Given the description of an element on the screen output the (x, y) to click on. 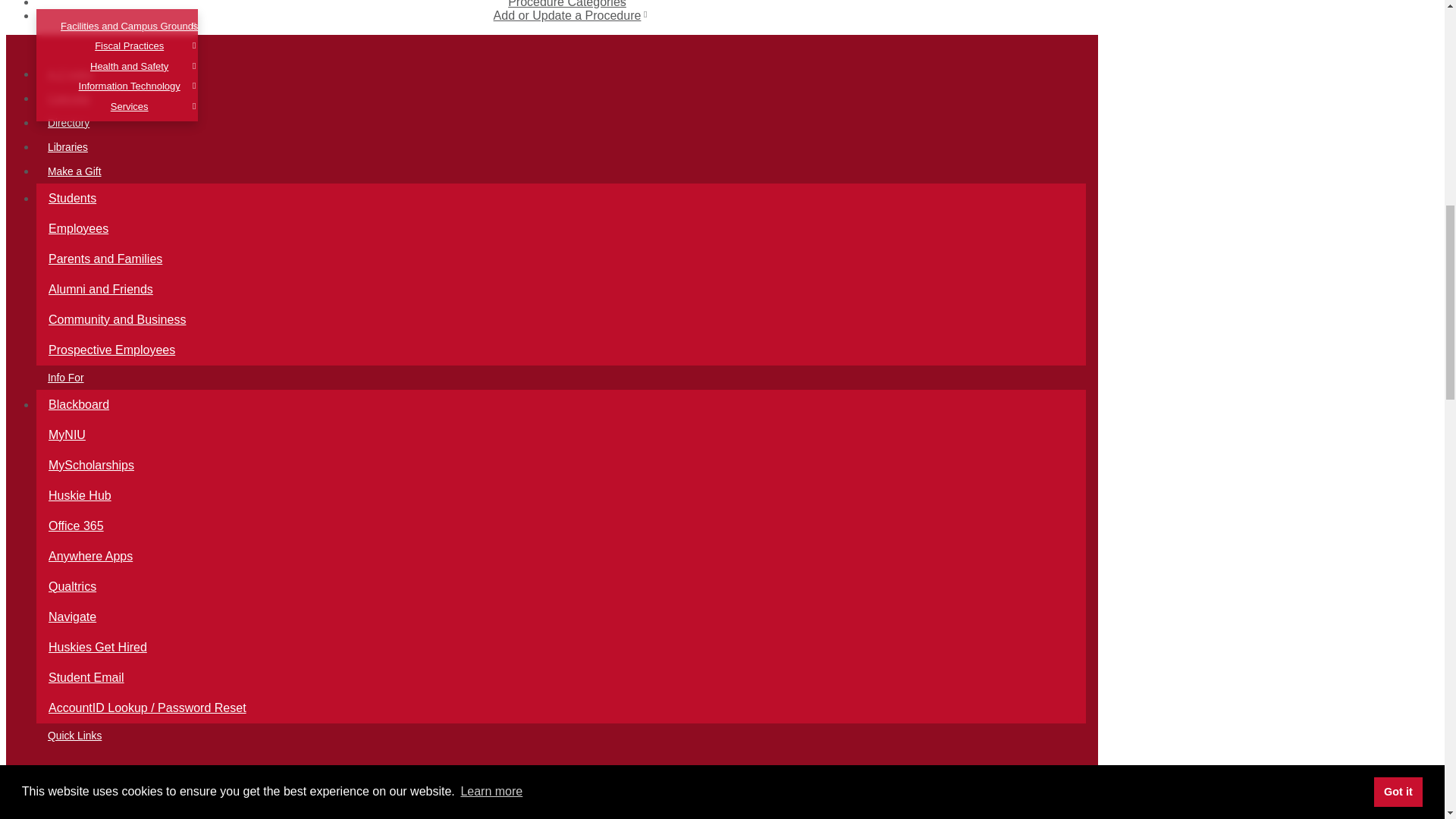
Facilities and Campus Grounds (129, 26)
Fiscal Practices (129, 46)
Health and Safety (129, 66)
Procedure Categories (567, 4)
